Given the description of an element on the screen output the (x, y) to click on. 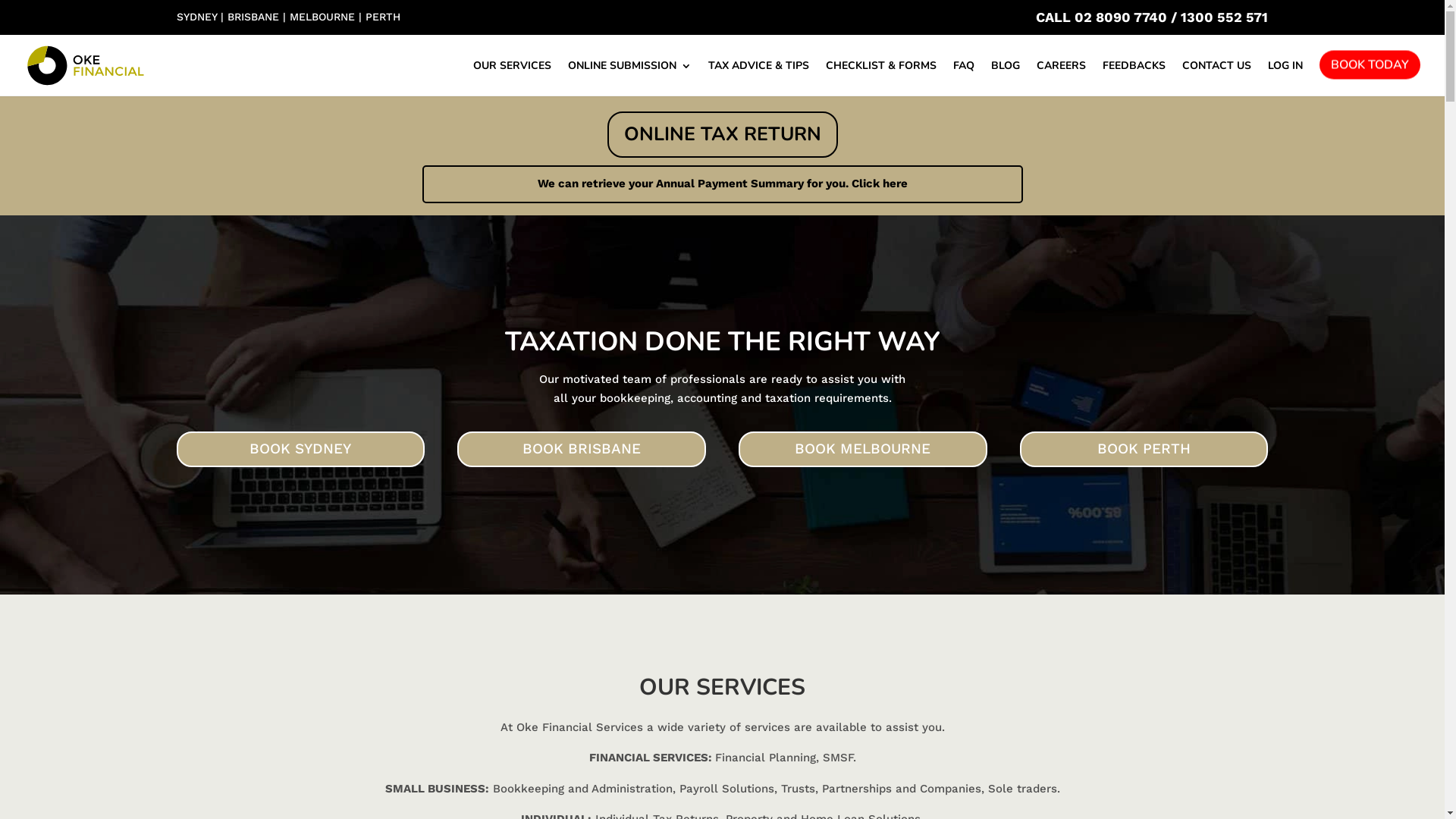
CAREERS Element type: text (1060, 78)
BOOK TODAY Element type: text (1369, 72)
BOOK PERTH Element type: text (1143, 448)
FEEDBACKS Element type: text (1133, 78)
ONLINE TAX RETURN Element type: text (721, 133)
BOOK SYDNEY Element type: text (299, 448)
BOOK BRISBANE Element type: text (581, 448)
FAQ Element type: text (963, 78)
TAX ADVICE & TIPS Element type: text (758, 78)
ONLINE SUBMISSION Element type: text (629, 78)
CHECKLIST & FORMS Element type: text (880, 78)
OUR SERVICES Element type: text (512, 78)
CONTACT US Element type: text (1216, 78)
BLOG Element type: text (1005, 78)
BOOK MELBOURNE Element type: text (862, 448)
LOG IN Element type: text (1284, 78)
